Given the description of an element on the screen output the (x, y) to click on. 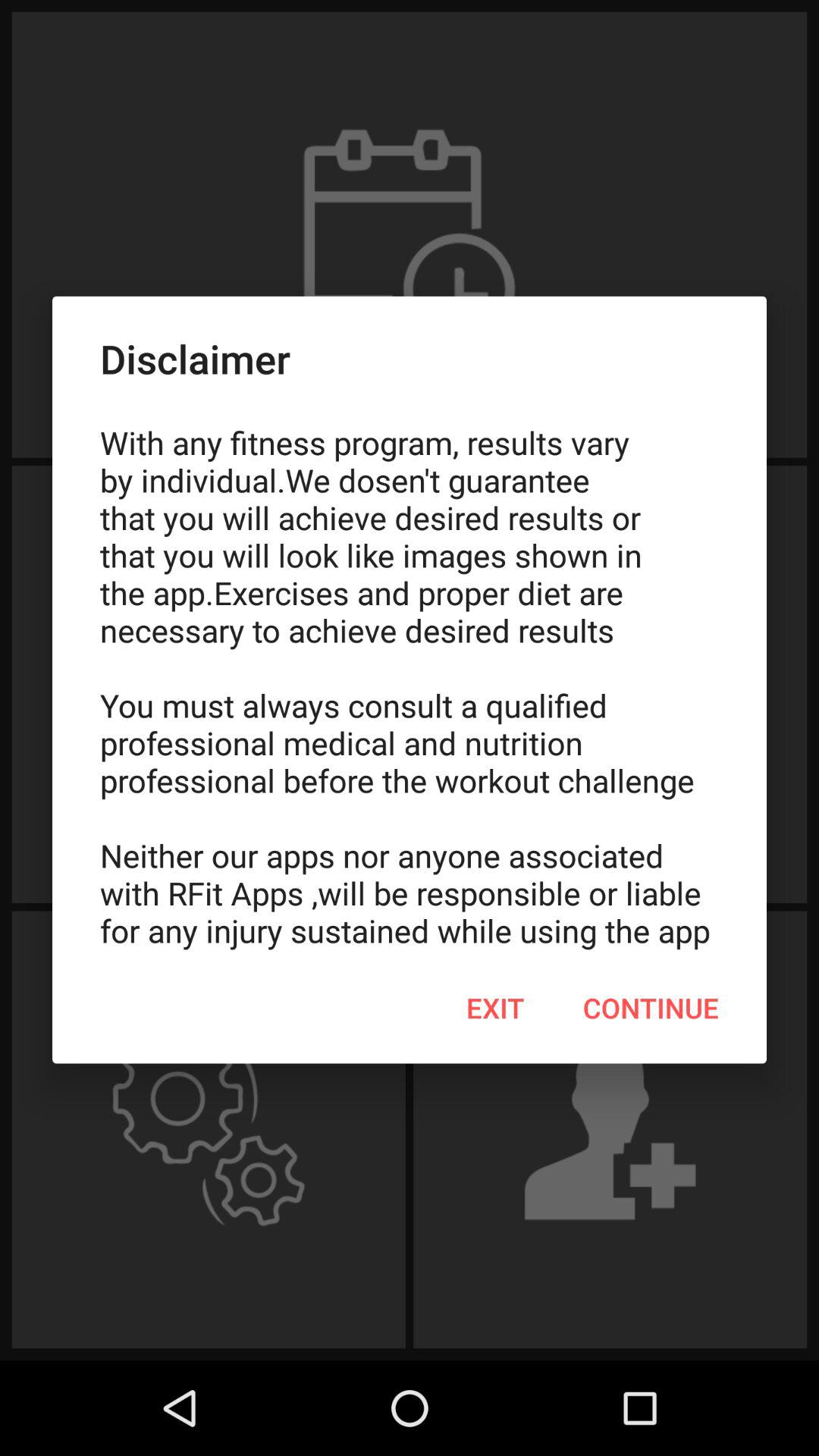
select item at the bottom (495, 1007)
